Given the description of an element on the screen output the (x, y) to click on. 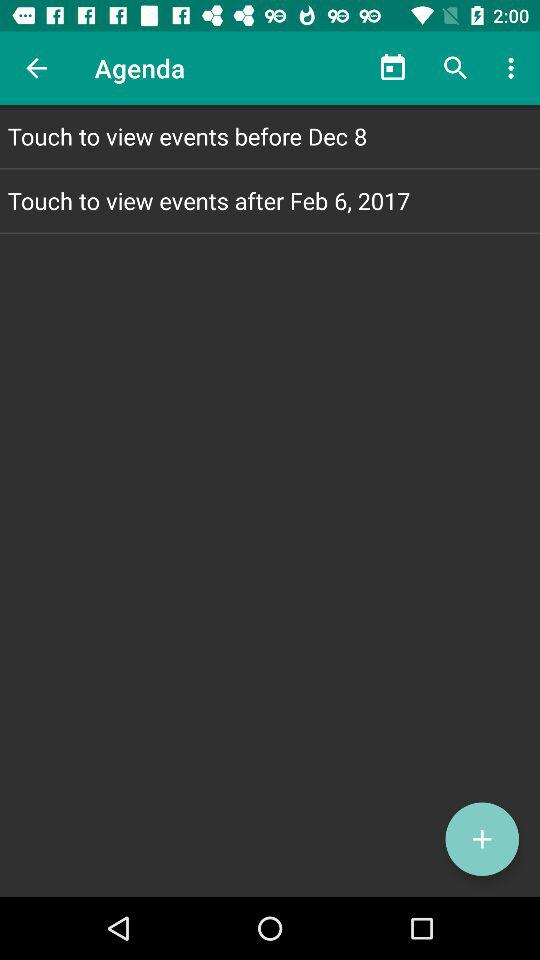
click icon above touch to view icon (455, 67)
